Given the description of an element on the screen output the (x, y) to click on. 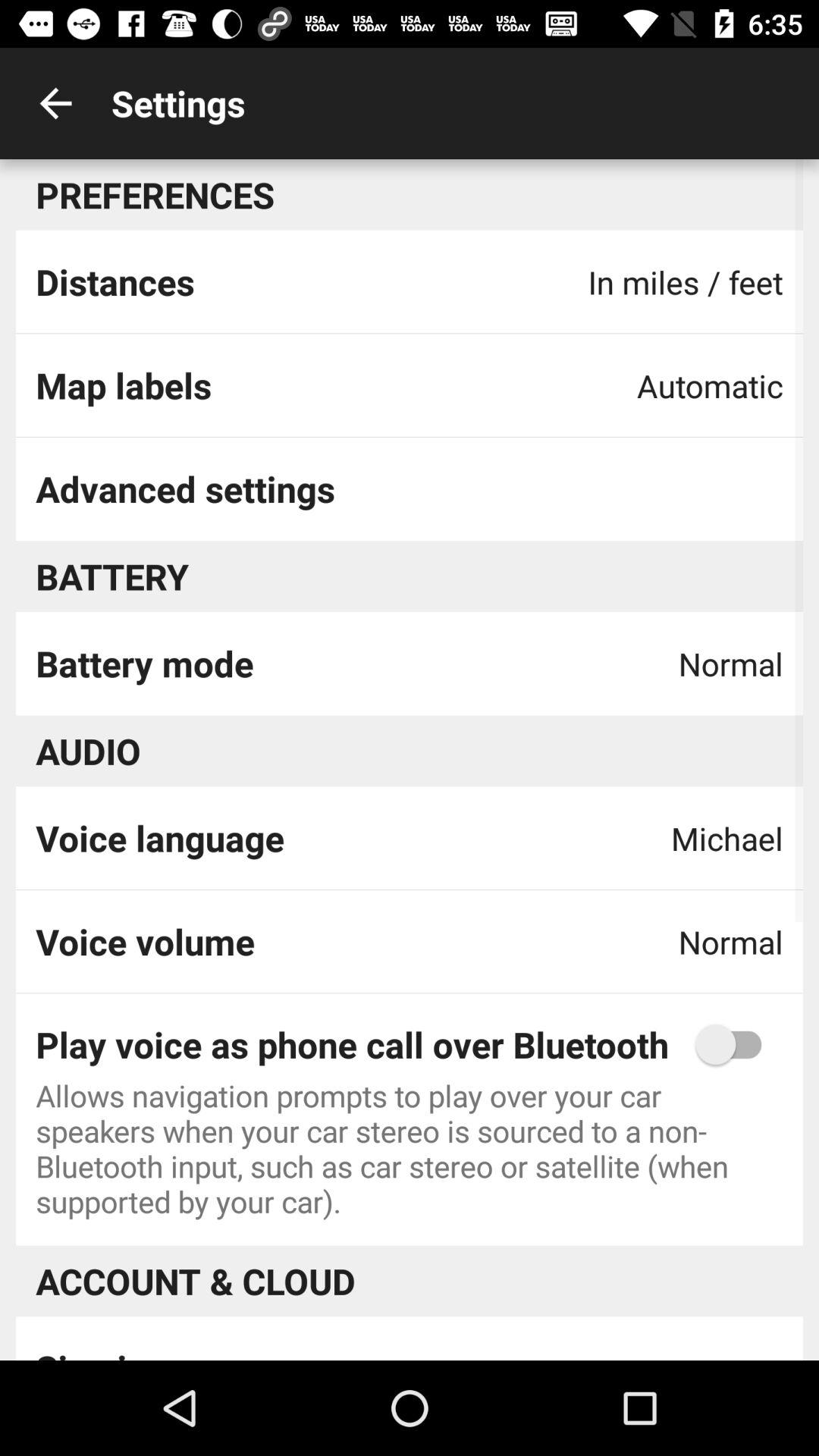
jump until the distances item (114, 281)
